Given the description of an element on the screen output the (x, y) to click on. 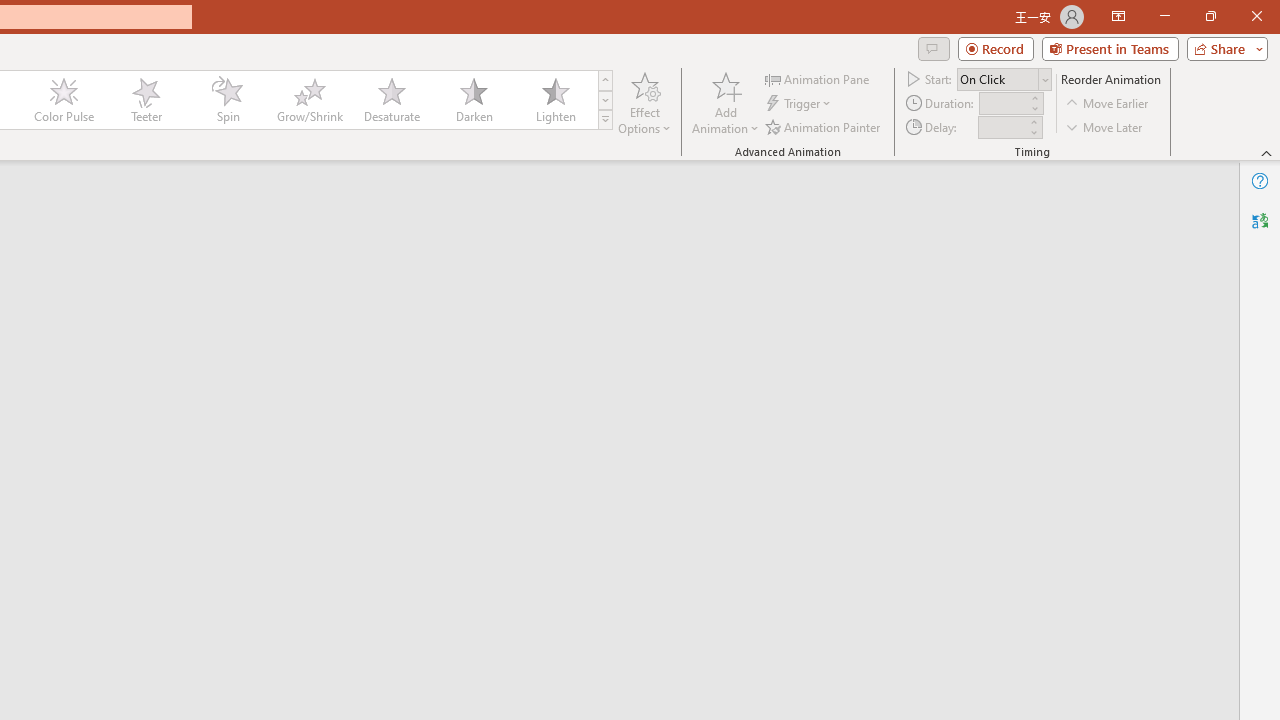
Move Later (1105, 126)
Add Animation (725, 102)
Spin (227, 100)
